Given the description of an element on the screen output the (x, y) to click on. 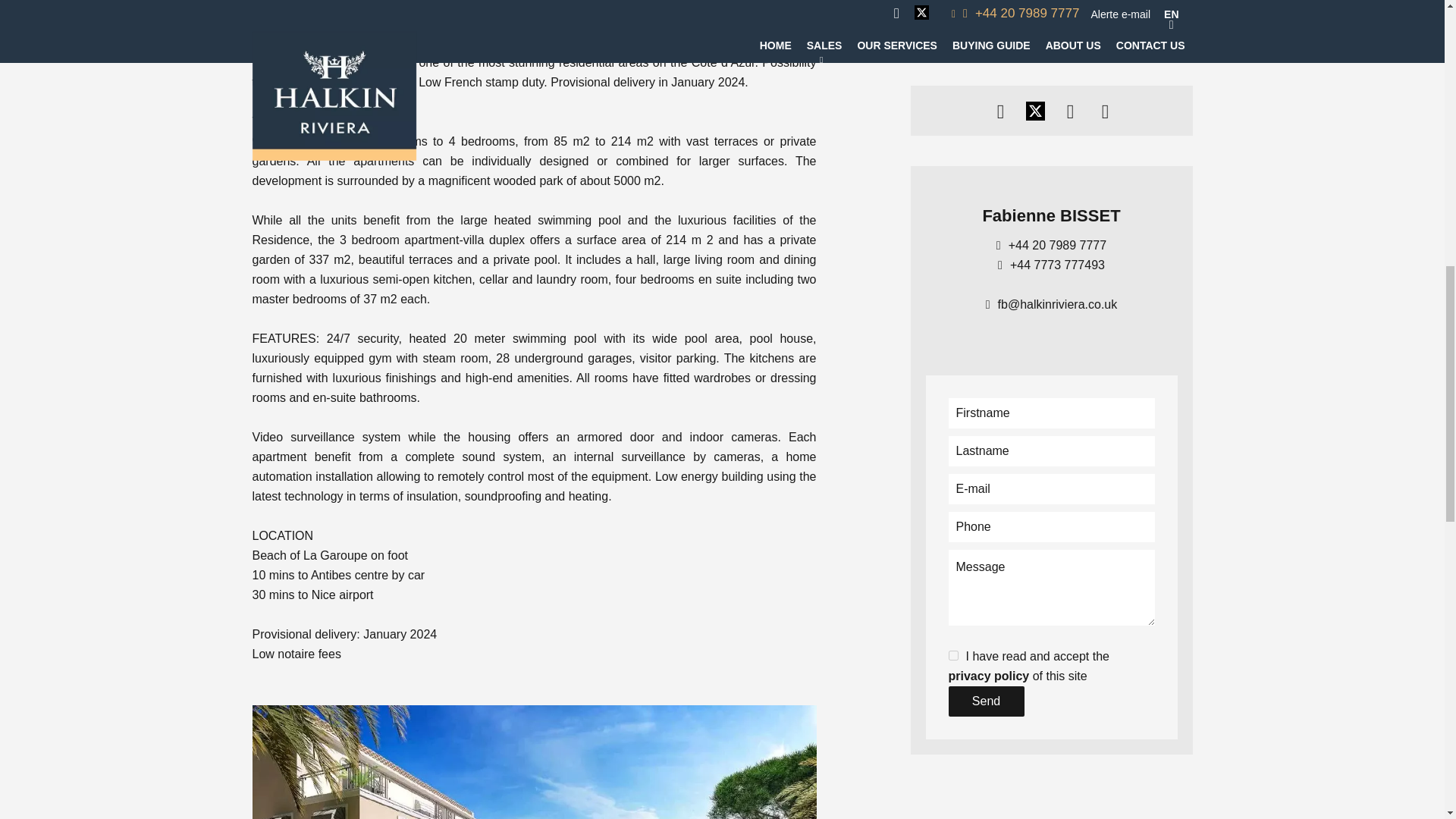
on (952, 655)
